Given the description of an element on the screen output the (x, y) to click on. 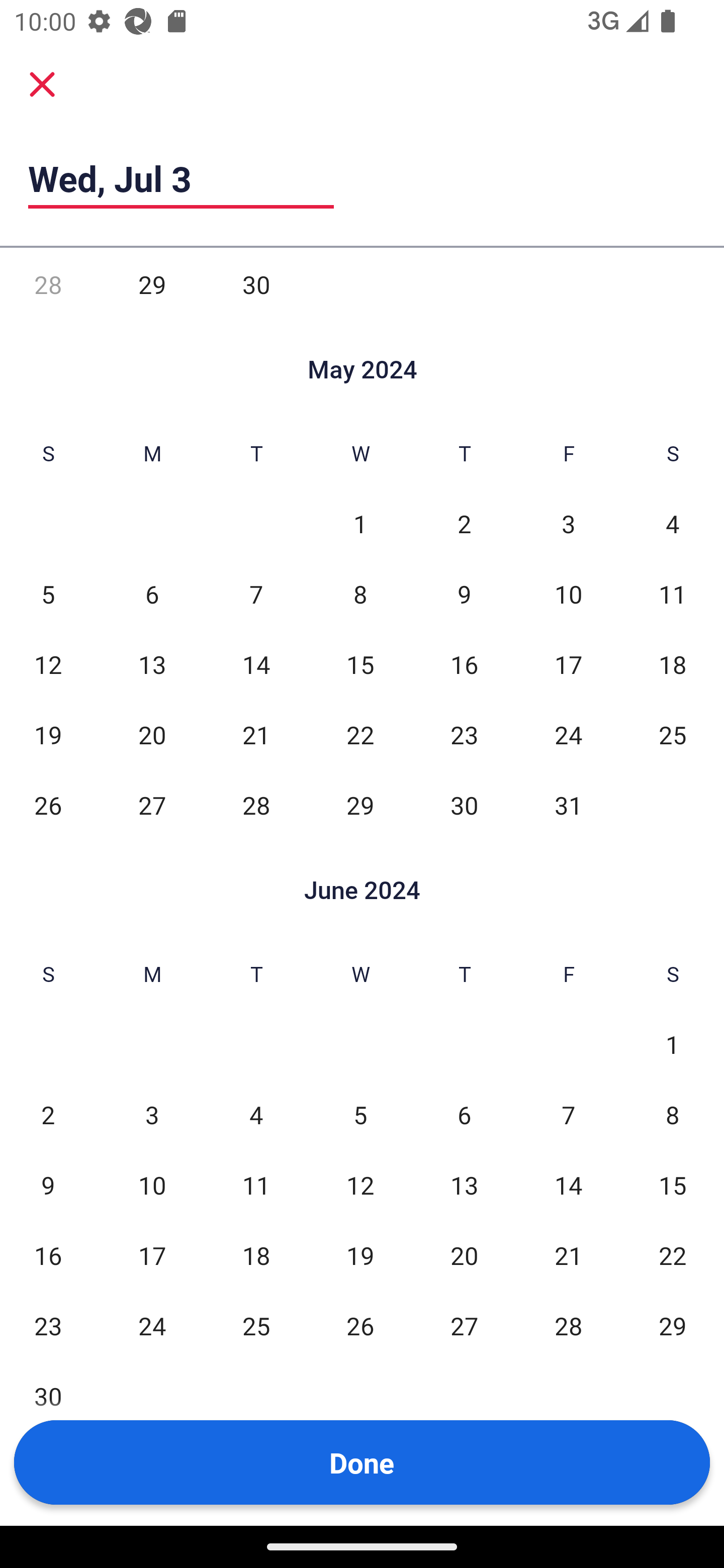
Cancel (41, 83)
Wed, Jul 3 (180, 178)
28 Sun, Apr 28, Not Selected (48, 284)
29 Mon, Apr 29, Not Selected (152, 284)
30 Tue, Apr 30, Not Selected (256, 284)
1 Wed, May 1, Not Selected (360, 523)
2 Thu, May 2, Not Selected (464, 523)
3 Fri, May 3, Not Selected (568, 523)
4 Sat, May 4, Not Selected (672, 523)
5 Sun, May 5, Not Selected (48, 593)
6 Mon, May 6, Not Selected (152, 593)
7 Tue, May 7, Not Selected (256, 593)
8 Wed, May 8, Not Selected (360, 593)
9 Thu, May 9, Not Selected (464, 593)
10 Fri, May 10, Not Selected (568, 593)
11 Sat, May 11, Not Selected (672, 593)
12 Sun, May 12, Not Selected (48, 663)
13 Mon, May 13, Not Selected (152, 663)
14 Tue, May 14, Not Selected (256, 663)
15 Wed, May 15, Not Selected (360, 663)
16 Thu, May 16, Not Selected (464, 663)
17 Fri, May 17, Not Selected (568, 663)
18 Sat, May 18, Not Selected (672, 663)
19 Sun, May 19, Not Selected (48, 734)
20 Mon, May 20, Not Selected (152, 734)
21 Tue, May 21, Not Selected (256, 734)
22 Wed, May 22, Not Selected (360, 734)
23 Thu, May 23, Not Selected (464, 734)
24 Fri, May 24, Not Selected (568, 734)
25 Sat, May 25, Not Selected (672, 734)
26 Sun, May 26, Not Selected (48, 804)
27 Mon, May 27, Not Selected (152, 804)
28 Tue, May 28, Not Selected (256, 804)
29 Wed, May 29, Not Selected (360, 804)
30 Thu, May 30, Not Selected (464, 804)
31 Fri, May 31, Not Selected (568, 804)
1 Sat, Jun 1, Not Selected (672, 1043)
2 Sun, Jun 2, Not Selected (48, 1113)
3 Mon, Jun 3, Not Selected (152, 1113)
4 Tue, Jun 4, Not Selected (256, 1113)
5 Wed, Jun 5, Not Selected (360, 1113)
6 Thu, Jun 6, Not Selected (464, 1113)
7 Fri, Jun 7, Not Selected (568, 1113)
8 Sat, Jun 8, Not Selected (672, 1113)
9 Sun, Jun 9, Not Selected (48, 1184)
10 Mon, Jun 10, Not Selected (152, 1184)
11 Tue, Jun 11, Not Selected (256, 1184)
12 Wed, Jun 12, Not Selected (360, 1184)
13 Thu, Jun 13, Not Selected (464, 1184)
14 Fri, Jun 14, Not Selected (568, 1184)
15 Sat, Jun 15, Not Selected (672, 1184)
16 Sun, Jun 16, Not Selected (48, 1254)
17 Mon, Jun 17, Not Selected (152, 1254)
18 Tue, Jun 18, Not Selected (256, 1254)
19 Wed, Jun 19, Not Selected (360, 1254)
20 Thu, Jun 20, Not Selected (464, 1254)
21 Fri, Jun 21, Not Selected (568, 1254)
22 Sat, Jun 22, Not Selected (672, 1254)
23 Sun, Jun 23, Not Selected (48, 1325)
24 Mon, Jun 24, Not Selected (152, 1325)
25 Tue, Jun 25, Not Selected (256, 1325)
26 Wed, Jun 26, Not Selected (360, 1325)
27 Thu, Jun 27, Not Selected (464, 1325)
28 Fri, Jun 28, Not Selected (568, 1325)
29 Sat, Jun 29, Not Selected (672, 1325)
30 Sun, Jun 30, Not Selected (48, 1396)
Done Button Done (361, 1462)
